Given the description of an element on the screen output the (x, y) to click on. 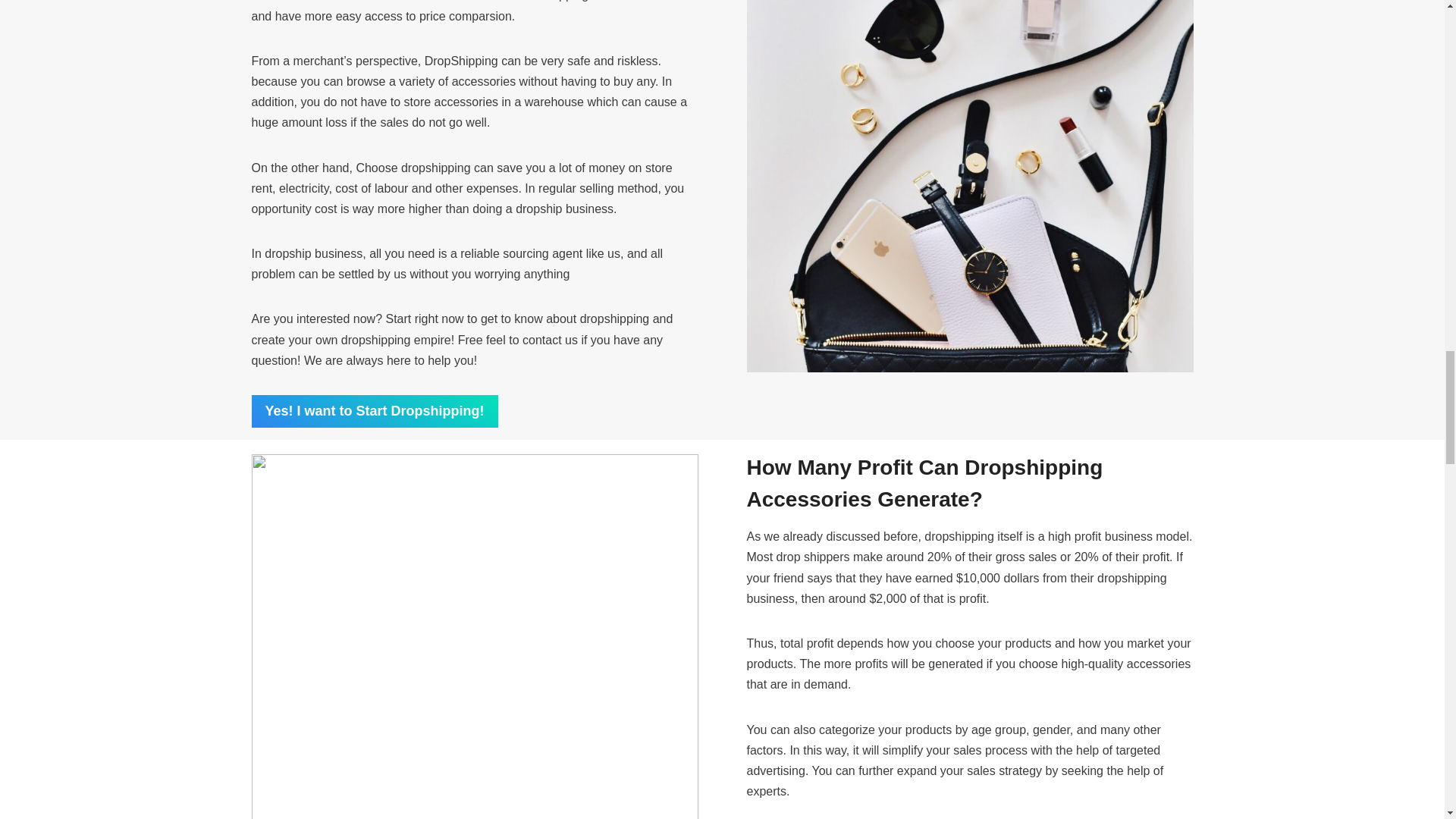
Yes! I want to Start Dropshipping! (374, 410)
